Given the description of an element on the screen output the (x, y) to click on. 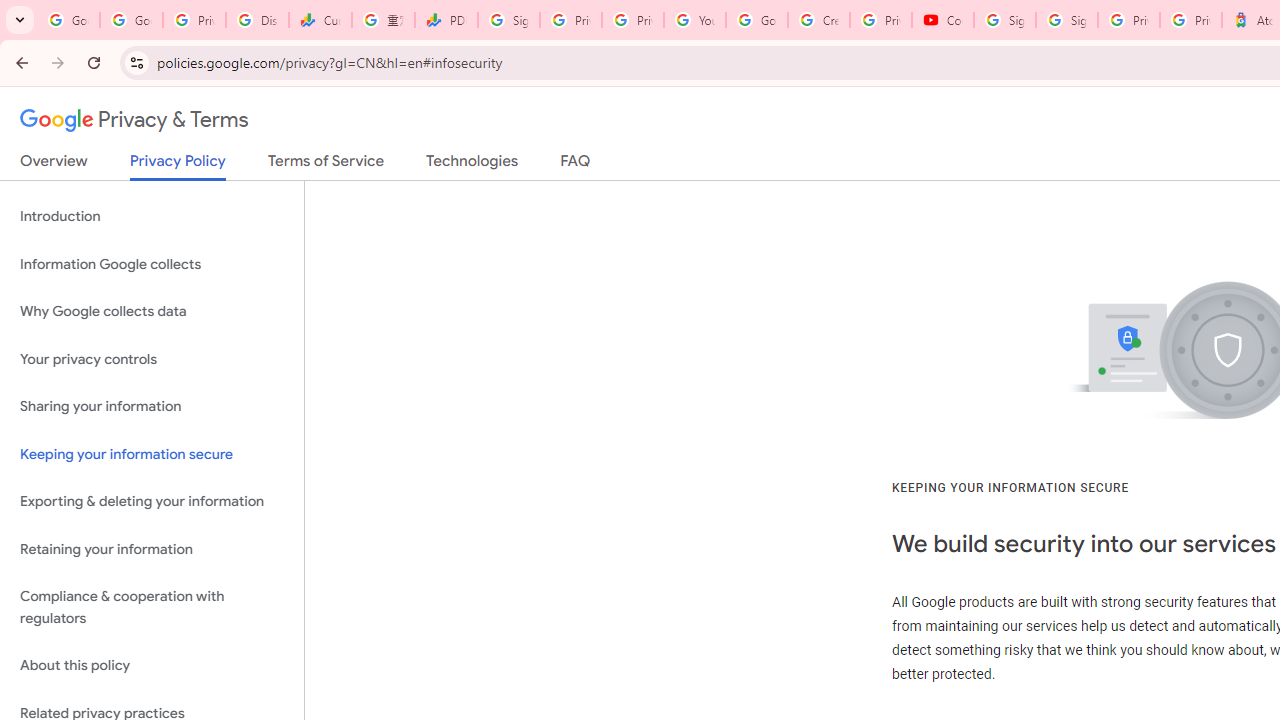
Keeping your information secure (152, 453)
Why Google collects data (152, 312)
Your privacy controls (152, 358)
PDD Holdings Inc - ADR (PDD) Price & News - Google Finance (445, 20)
About this policy (152, 666)
Exporting & deleting your information (152, 502)
Privacy Checkup (632, 20)
